Given the description of an element on the screen output the (x, y) to click on. 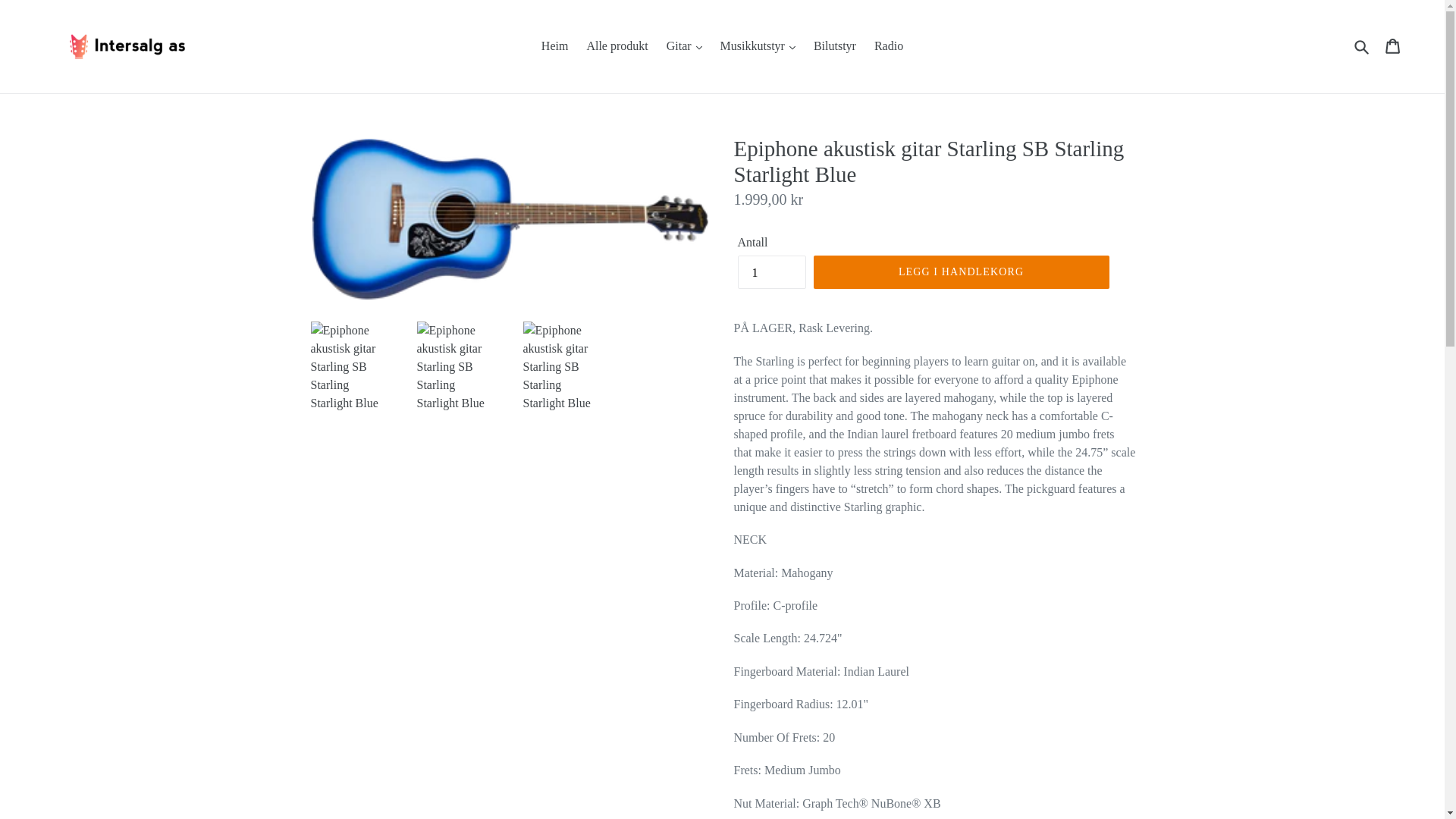
Alle produkt (616, 46)
Send (1362, 46)
Bilutstyr (834, 46)
1 (770, 272)
Heim (555, 46)
Radio (888, 46)
Navn (1393, 46)
